Given the description of an element on the screen output the (x, y) to click on. 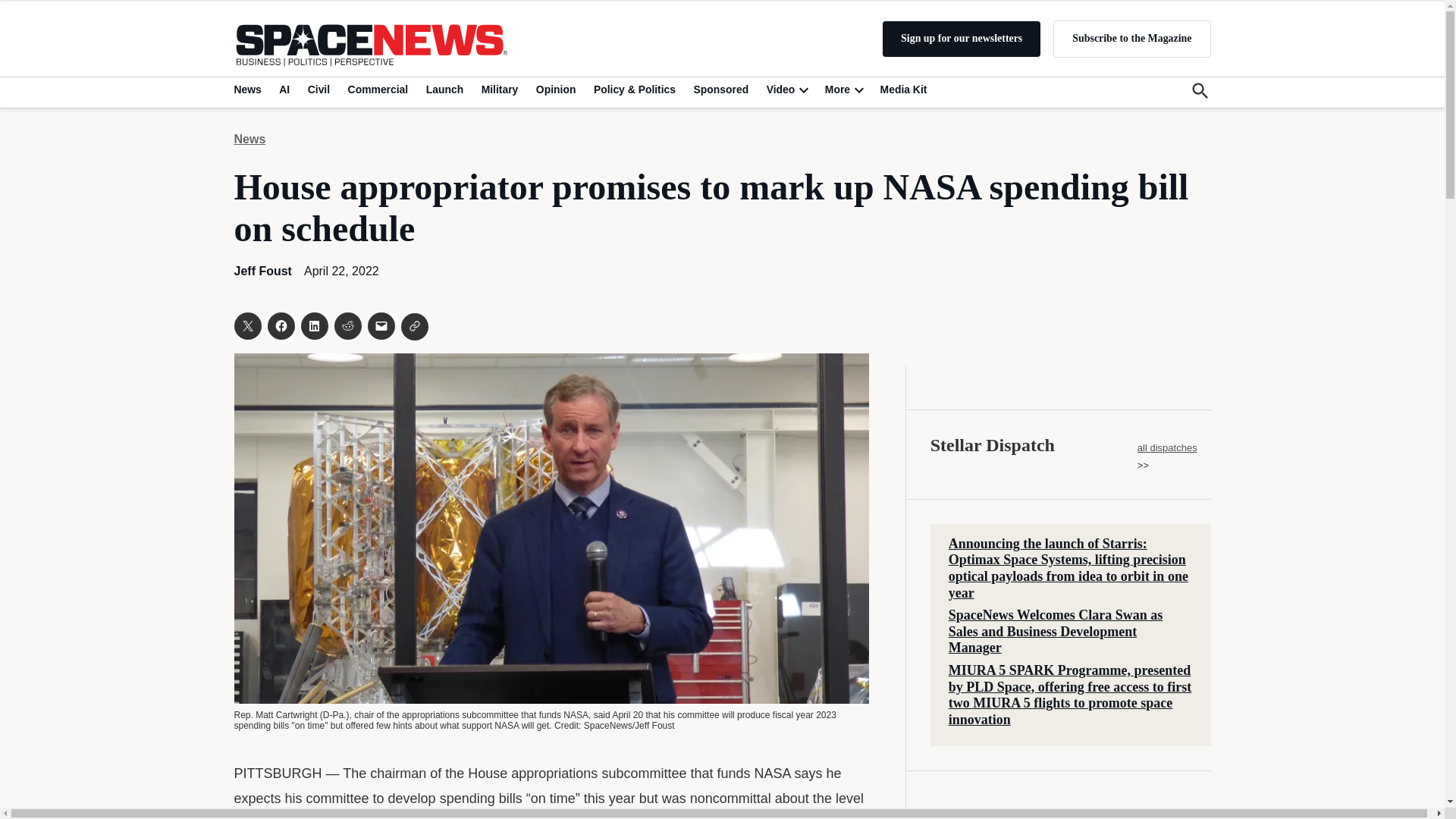
Sign up for our newsletters (961, 38)
Click to share on Clipboard (414, 326)
Click to share on Facebook (280, 325)
AI (284, 89)
News (249, 89)
Click to share on LinkedIn (313, 325)
Subscribe to the Magazine (1130, 38)
Click to email a link to a friend (380, 325)
Click to share on X (246, 325)
Click to share on Reddit (347, 325)
